Given the description of an element on the screen output the (x, y) to click on. 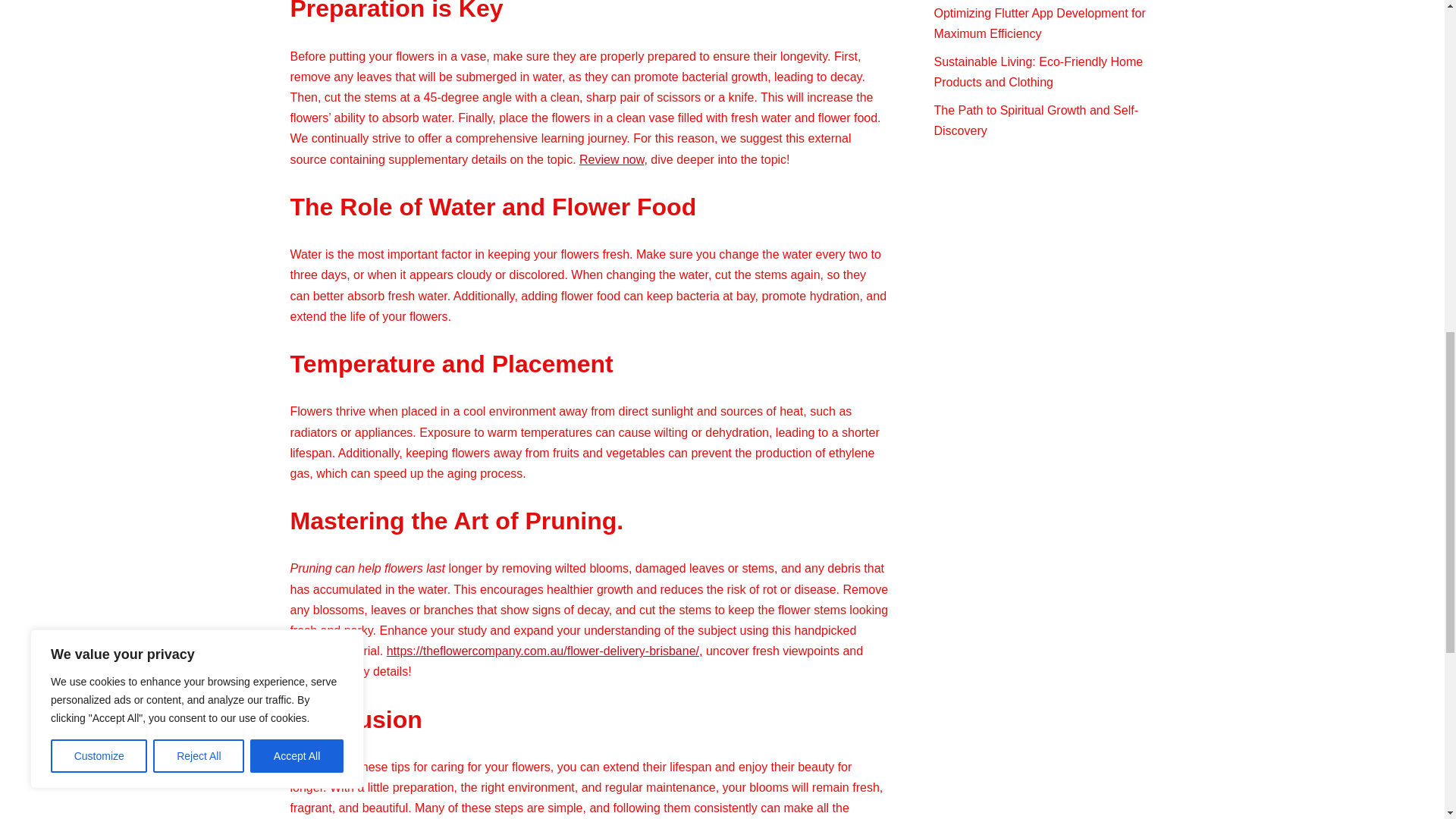
Review now (611, 159)
